Given the description of an element on the screen output the (x, y) to click on. 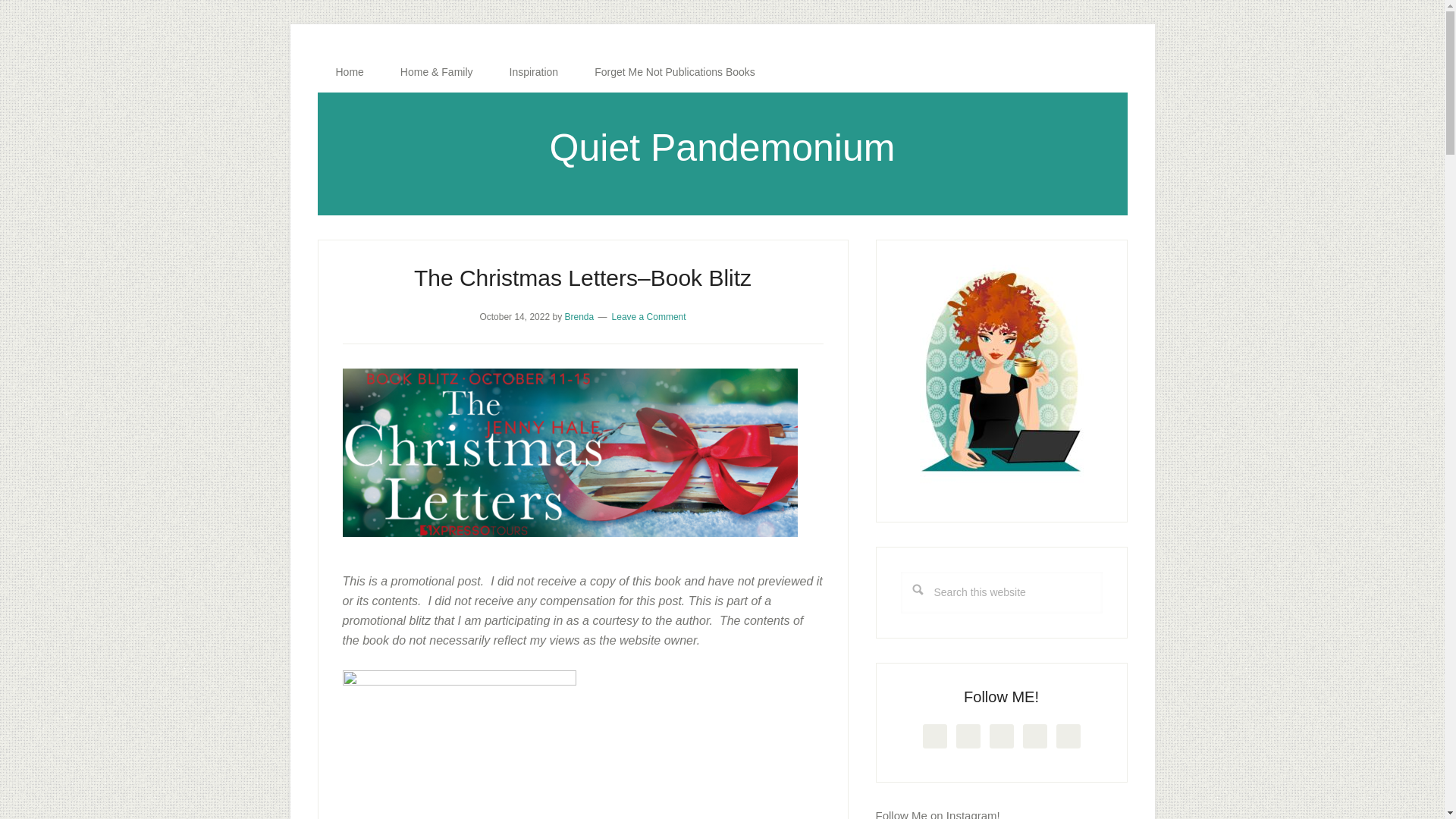
Inspiration (534, 71)
Leave a Comment (648, 317)
Brenda (579, 317)
Forget Me Not Publications Books (674, 71)
Quiet Pandemonium (722, 147)
Home (349, 71)
